Given the description of an element on the screen output the (x, y) to click on. 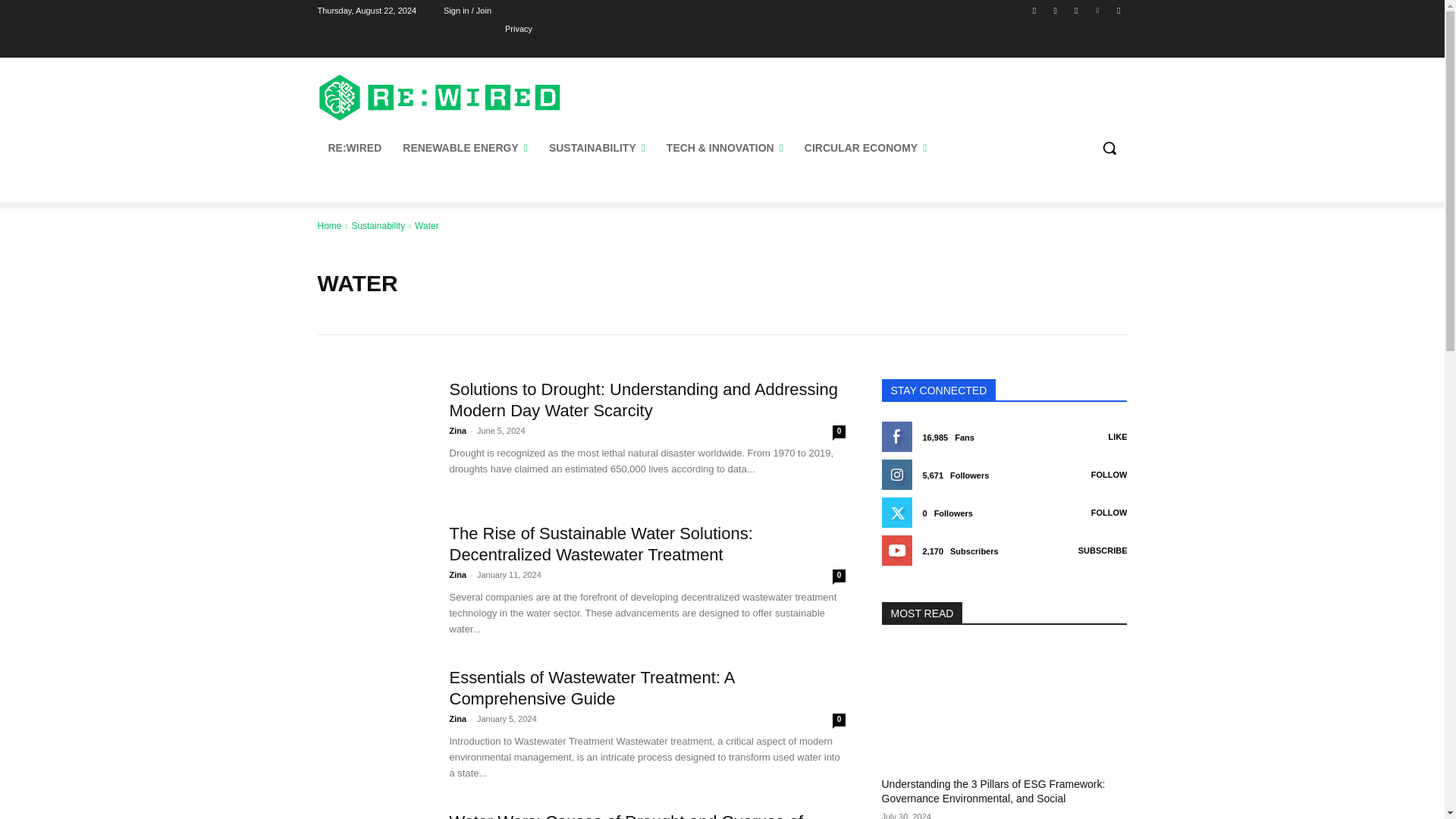
RENEWABLE ENERGY (464, 147)
RE:WIRED (354, 147)
Twitter (1075, 9)
Privacy (518, 28)
Re:Wired (439, 97)
Facebook (1034, 9)
Youtube (1117, 9)
Vimeo (1097, 9)
Instagram (1055, 9)
